Given the description of an element on the screen output the (x, y) to click on. 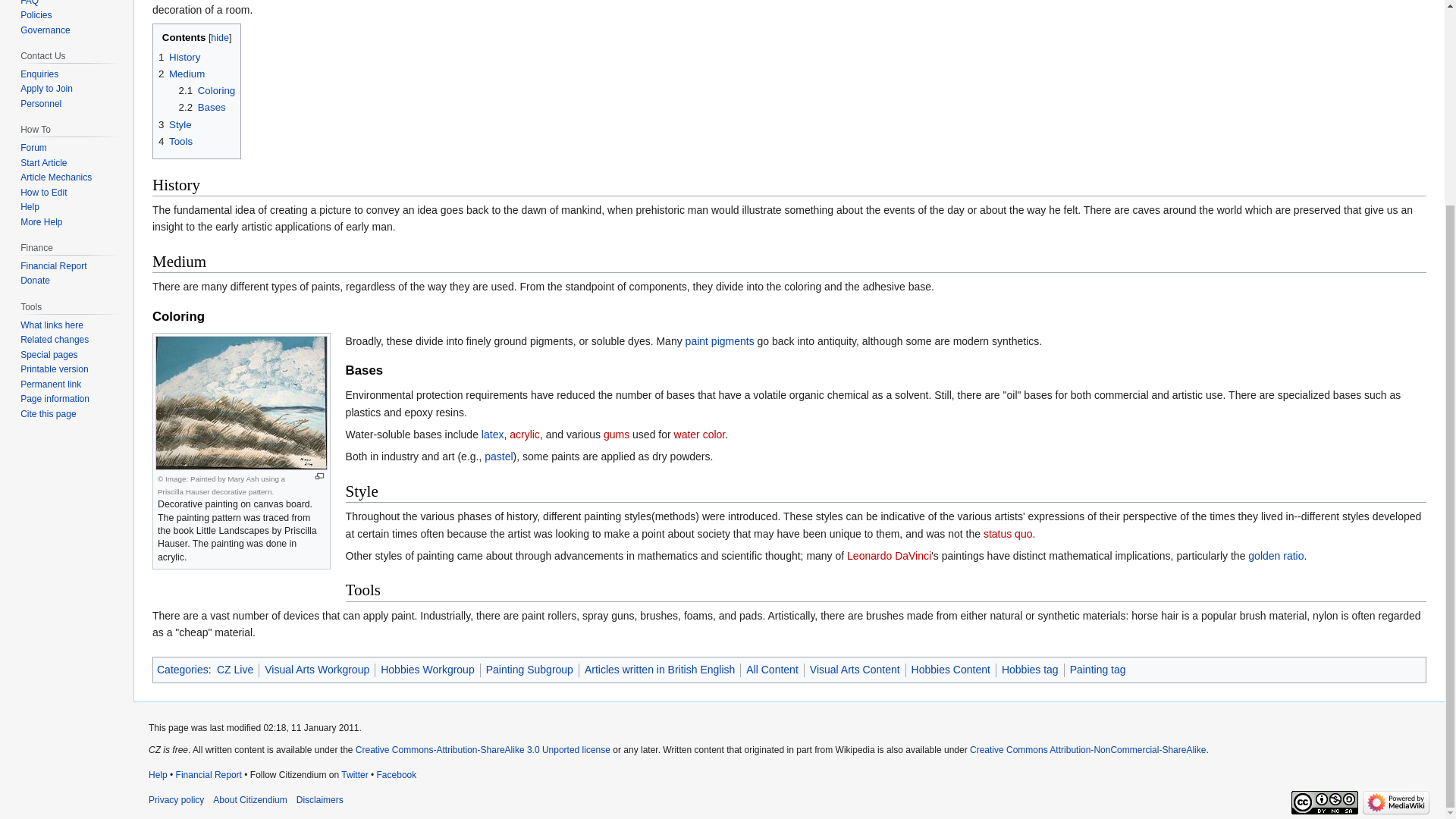
2.2 Bases (202, 107)
pastel (498, 456)
3 Style (175, 124)
gums (616, 434)
4 Tools (175, 141)
2.1 Coloring (207, 90)
2 Medium (181, 73)
paint pigments (719, 340)
water color (699, 434)
latex (492, 434)
acrylic (524, 434)
1 History (179, 57)
